Given the description of an element on the screen output the (x, y) to click on. 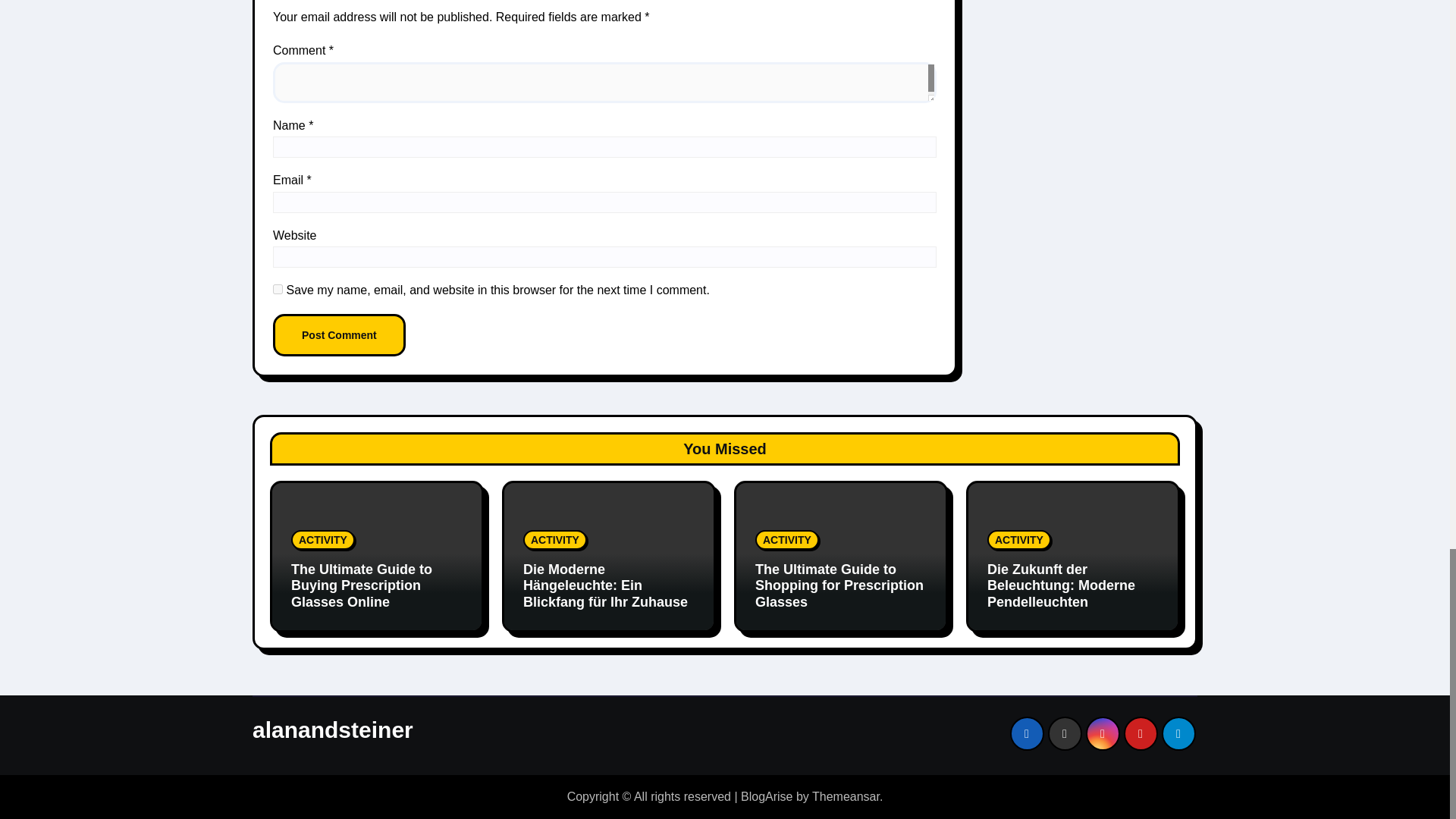
Post Comment (339, 334)
yes (277, 289)
